Given the description of an element on the screen output the (x, y) to click on. 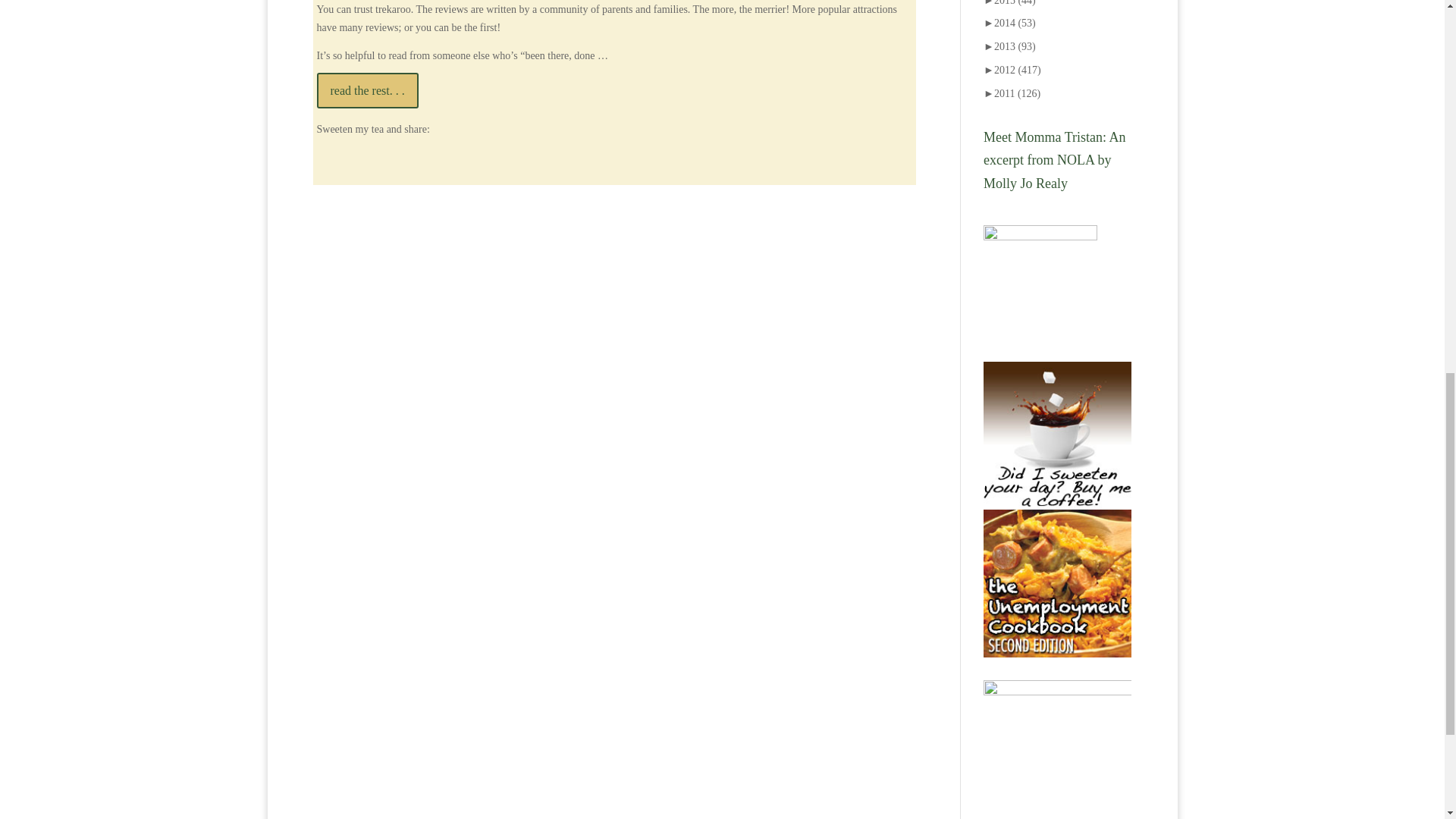
read the rest. . . (368, 90)
